Given the description of an element on the screen output the (x, y) to click on. 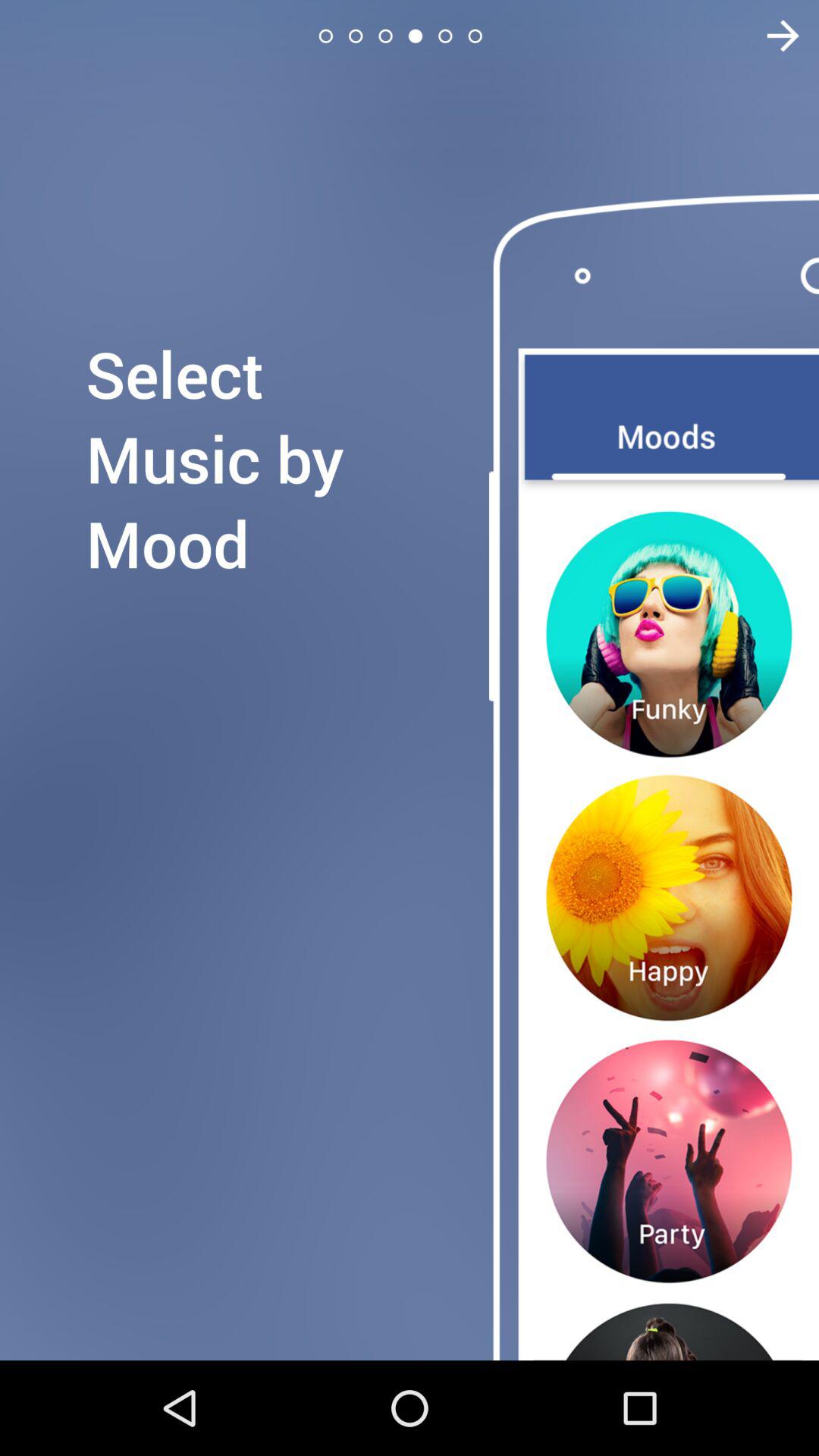
go to next page (773, 35)
